Given the description of an element on the screen output the (x, y) to click on. 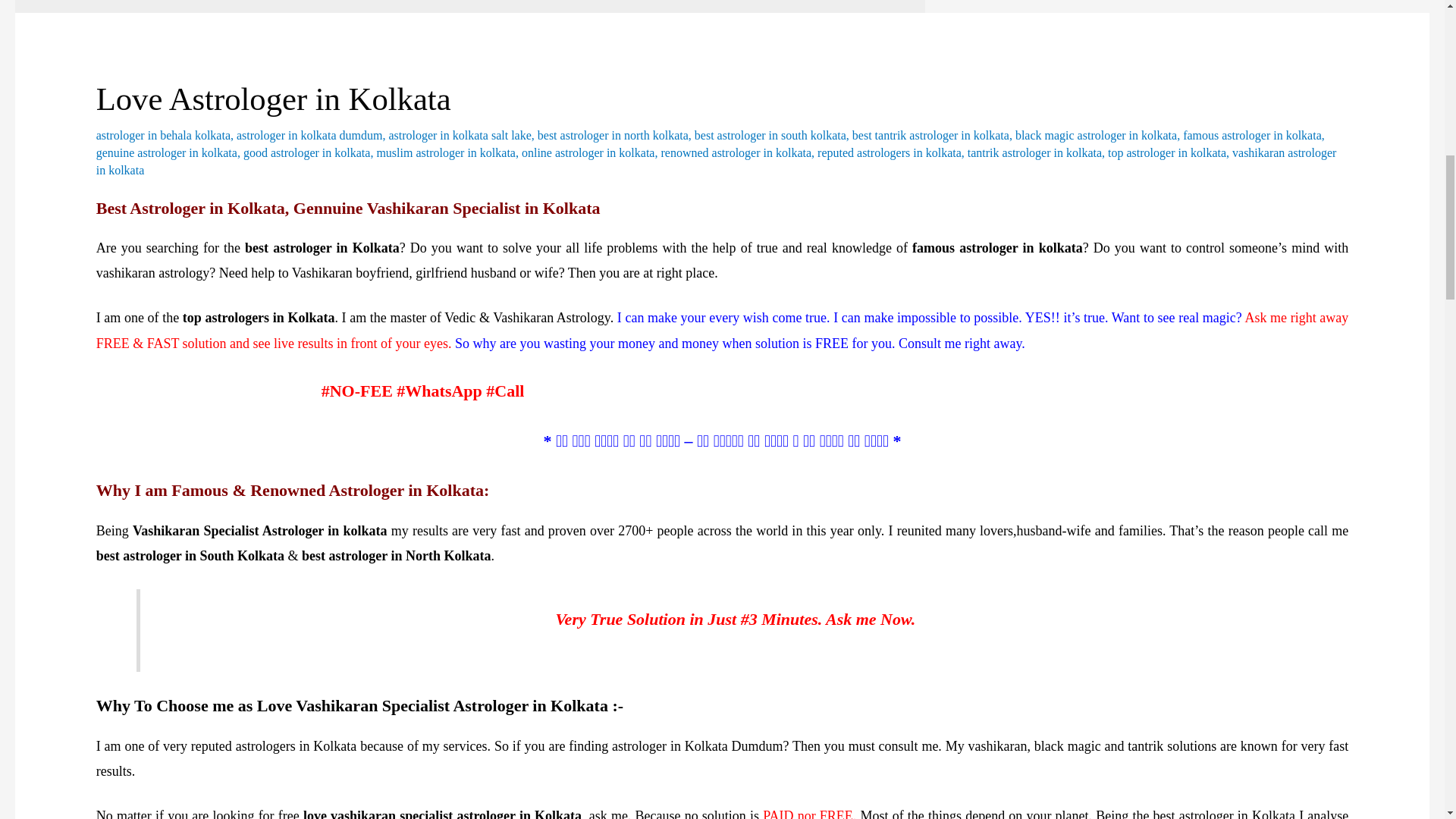
reputed astrologers in kolkata (888, 152)
famous astrologer in kolkata (1252, 134)
best astrologer in south kolkata (769, 134)
genuine astrologer in kolkata (166, 152)
top astrologer in kolkata (1166, 152)
Love Astrologer in Kolkata (273, 99)
tantrik astrologer in kolkata (1035, 152)
renowned astrologer in kolkata (735, 152)
astrologer in kolkata dumdum (308, 134)
black magic astrologer in kolkata (1095, 134)
